Given the description of an element on the screen output the (x, y) to click on. 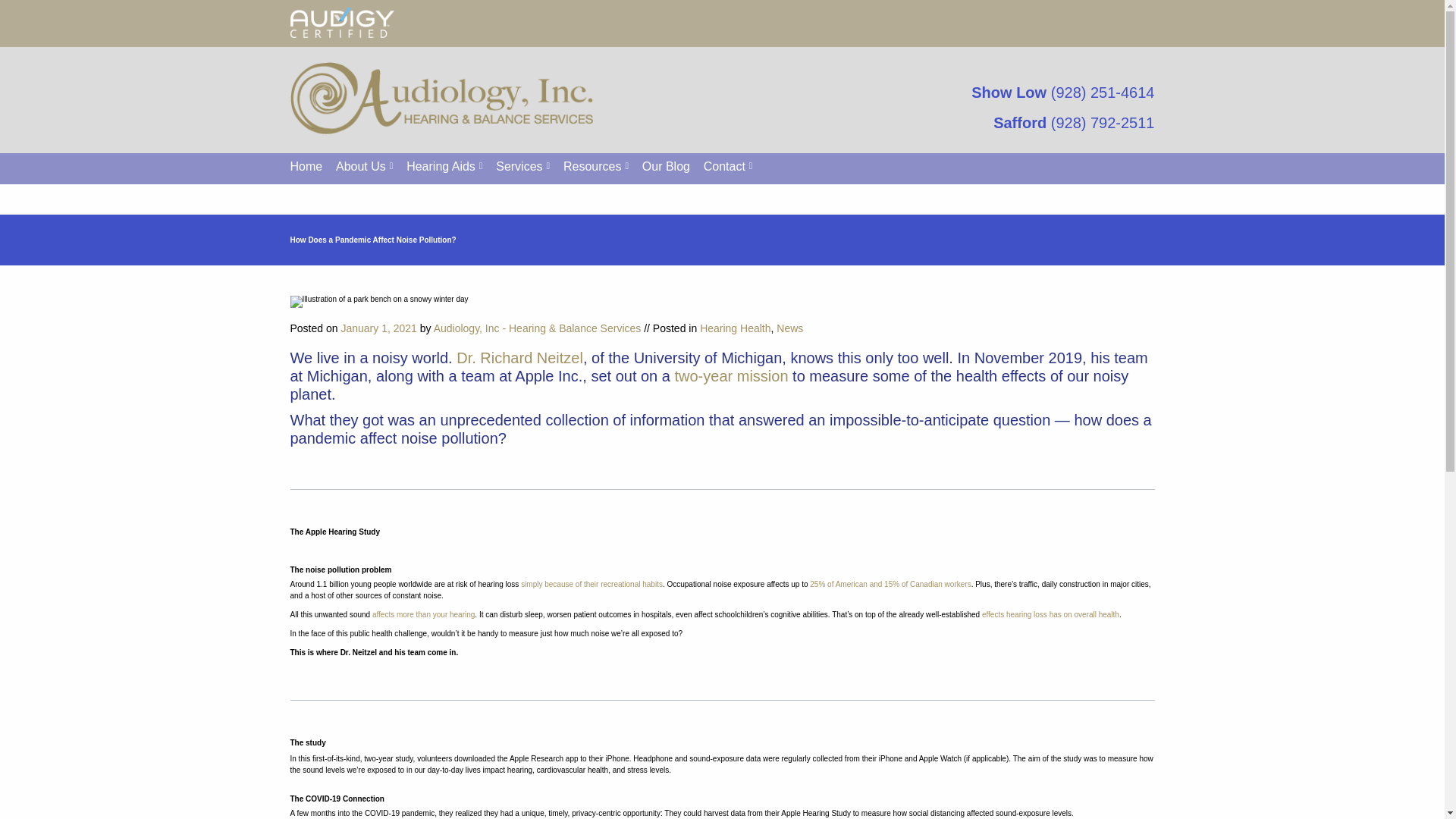
Home (305, 165)
About Us (364, 165)
Hearing Aids (443, 165)
